Given the description of an element on the screen output the (x, y) to click on. 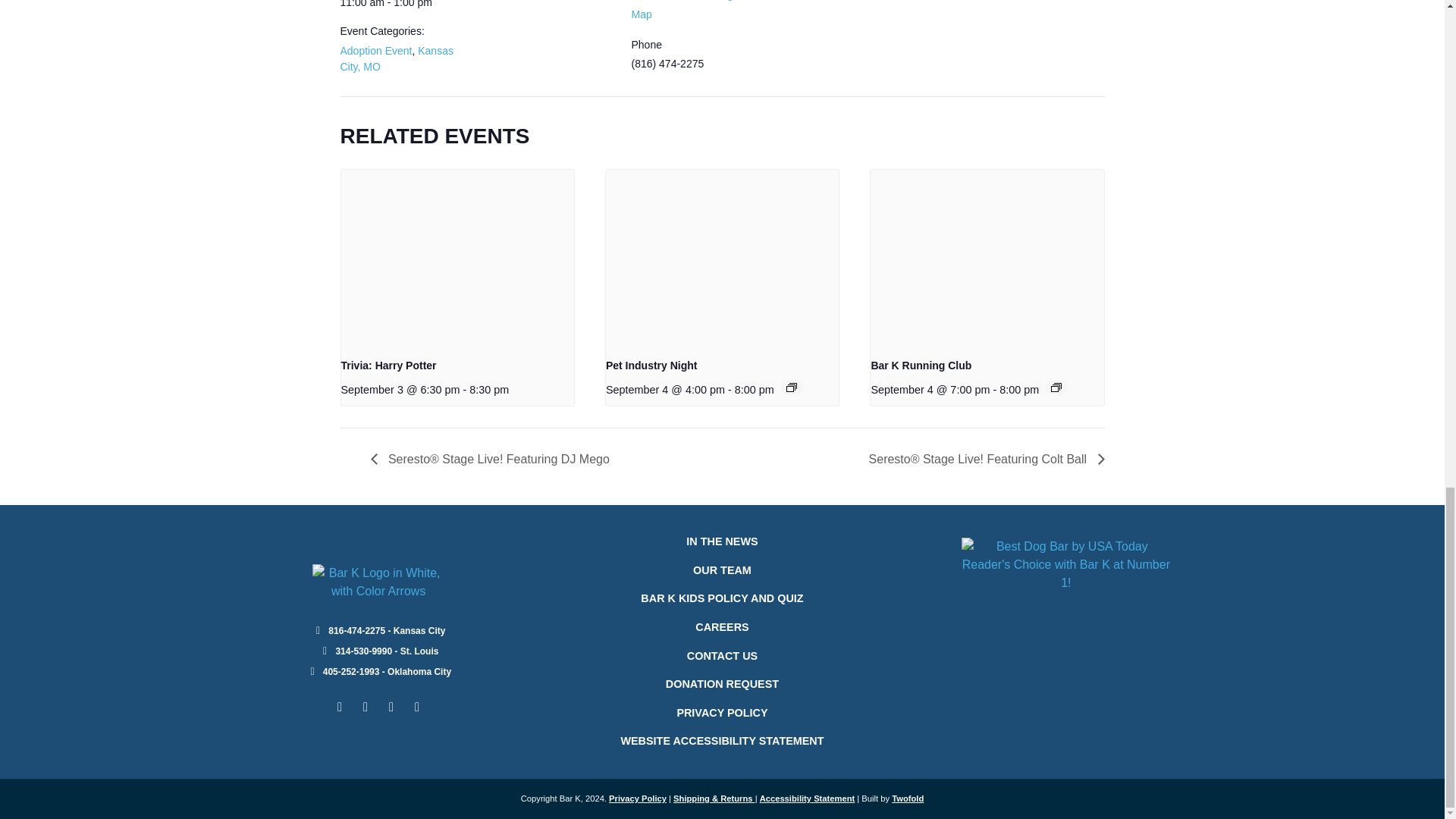
2022-08-27 (403, 5)
Click to view a Google Map (685, 10)
Event Series (1056, 387)
Event Series (791, 387)
